Given the description of an element on the screen output the (x, y) to click on. 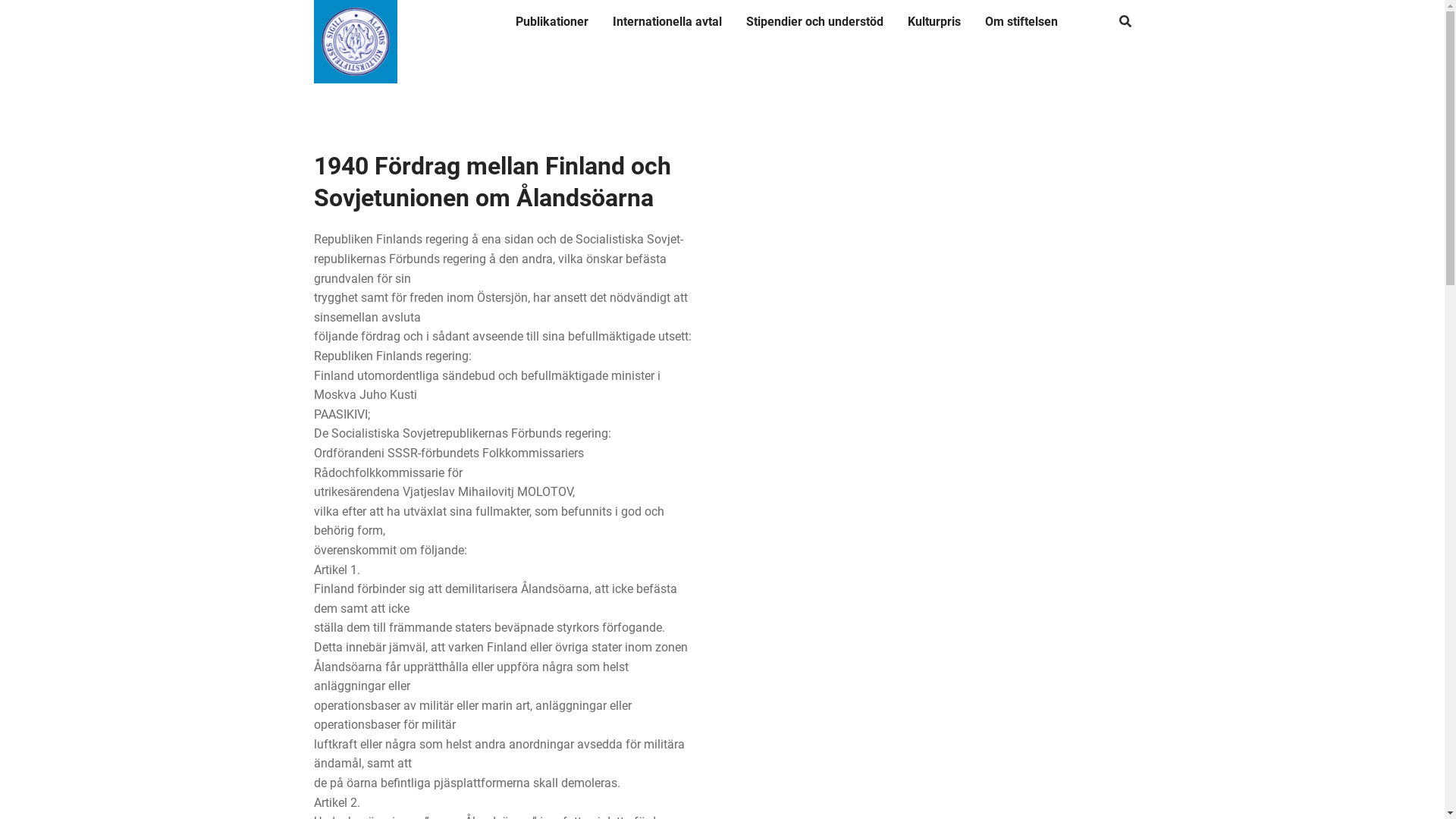
Kulturpris Element type: text (933, 21)
Internationella avtal Element type: text (666, 21)
Om stiftelsen Element type: text (1021, 21)
Publikationer Element type: text (551, 21)
